Given the description of an element on the screen output the (x, y) to click on. 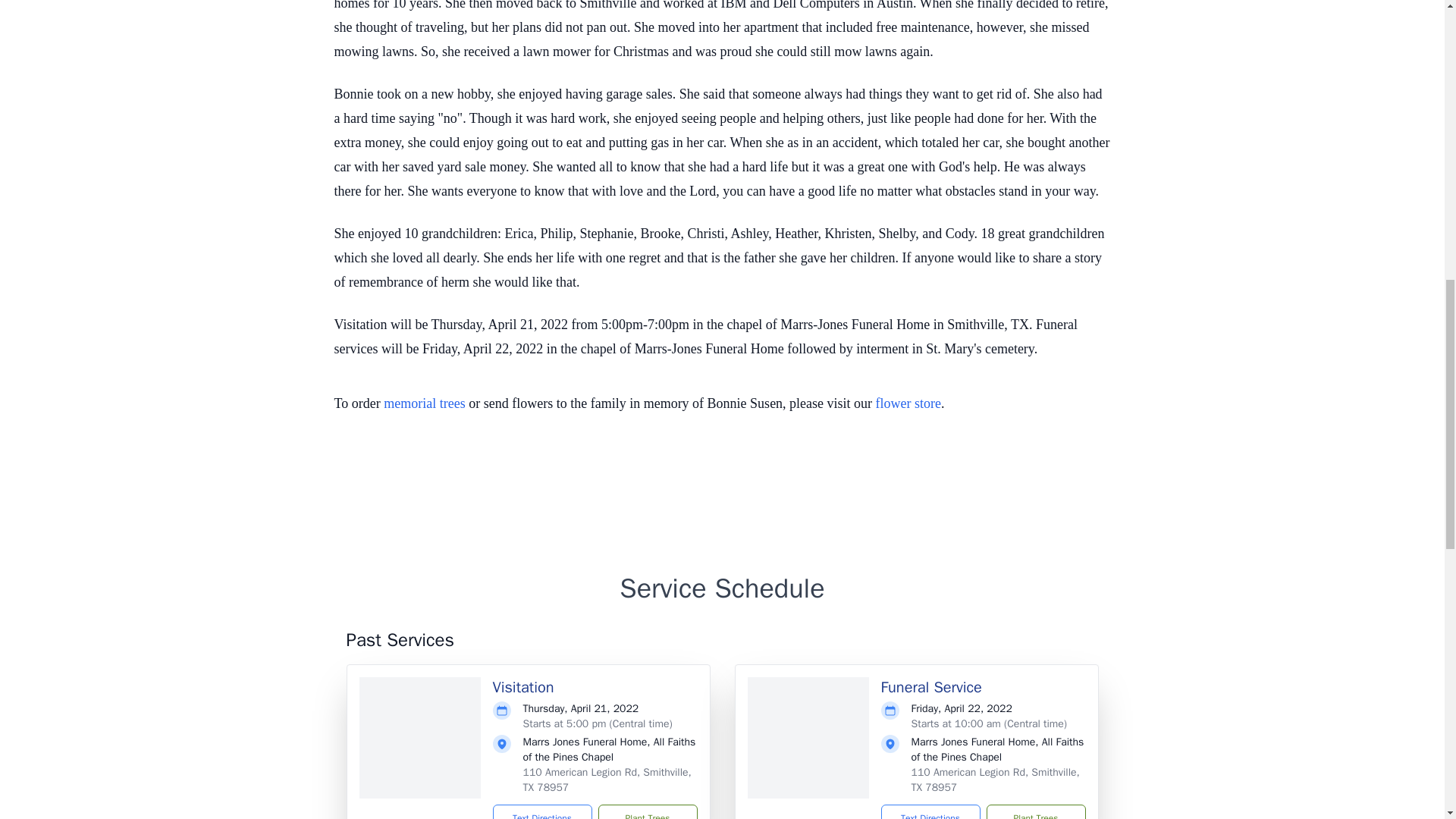
110 American Legion Rd, Smithville, TX 78957 (606, 779)
memorial trees (424, 403)
Plant Trees (646, 811)
Text Directions (542, 811)
Plant Trees (1034, 811)
flower store (908, 403)
Text Directions (929, 811)
110 American Legion Rd, Smithville, TX 78957 (995, 779)
